Given the description of an element on the screen output the (x, y) to click on. 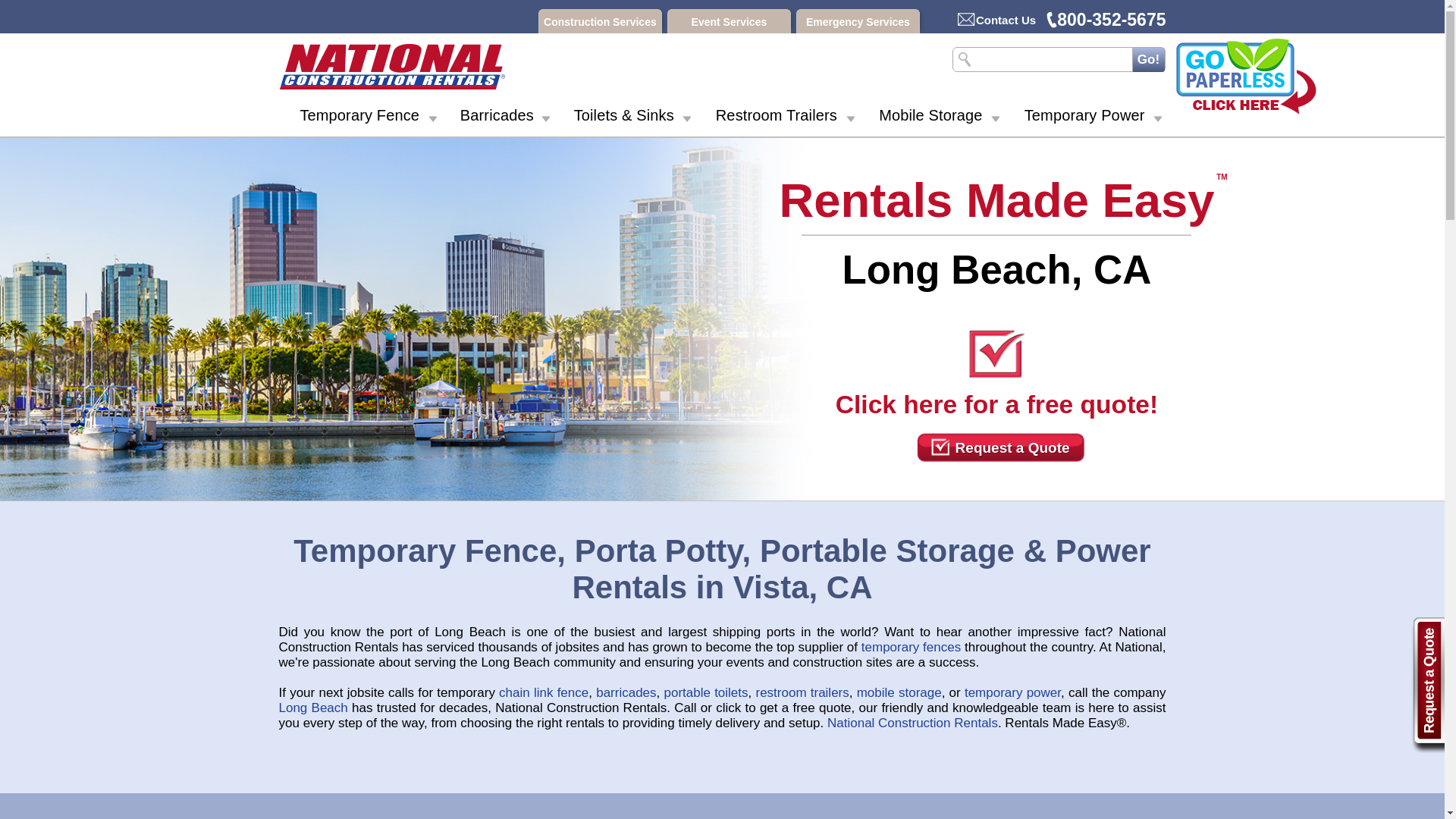
Go Paperless (1246, 76)
Event Services (728, 21)
Contact Us (996, 19)
Temporary Fence (360, 118)
Search (1147, 59)
Search (1147, 59)
Emergency Services (858, 21)
800-352-5675 (1106, 19)
Barricades (497, 118)
Construction Services (600, 21)
